Given the description of an element on the screen output the (x, y) to click on. 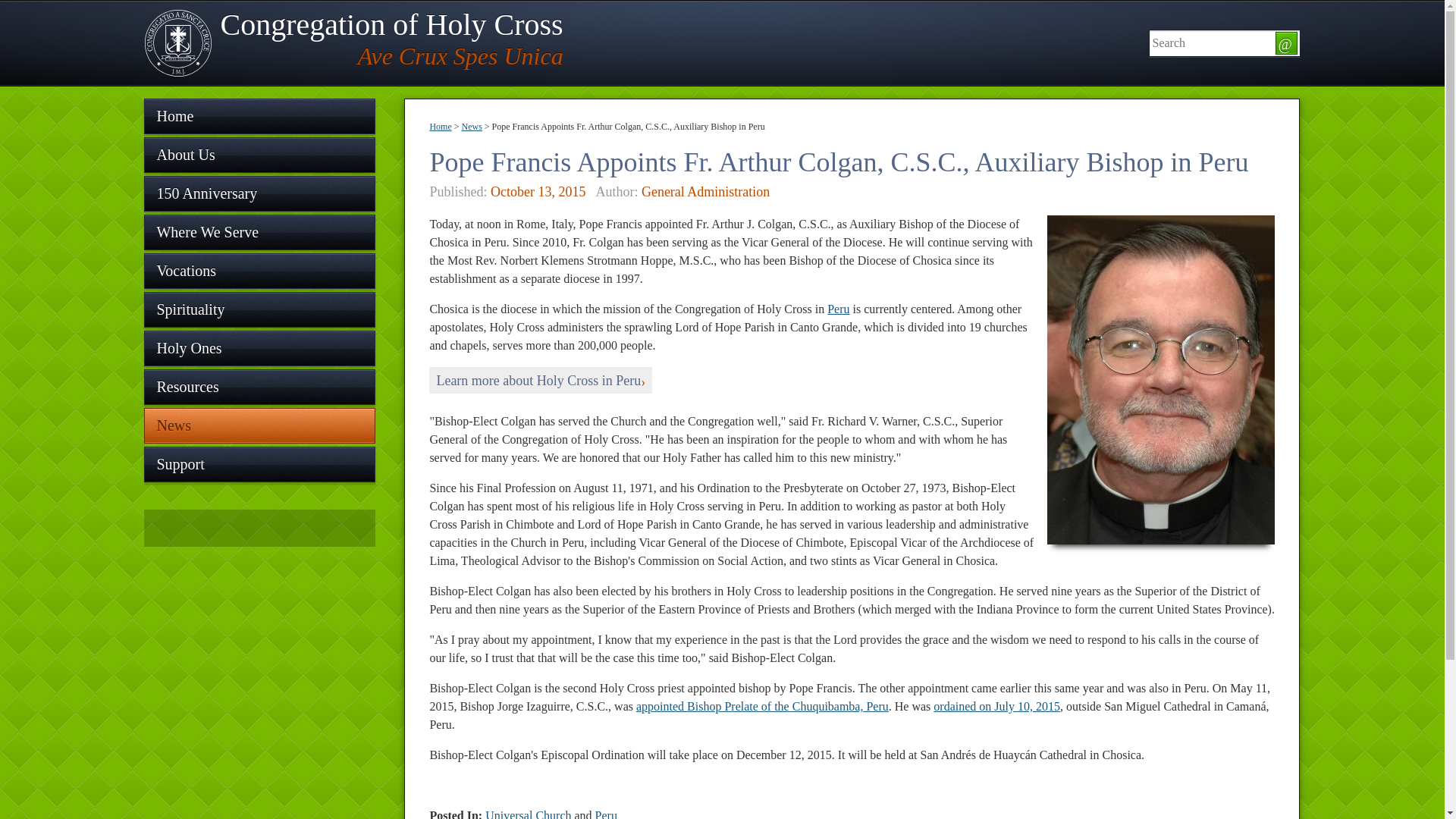
LinkedIn (260, 527)
Peru (837, 308)
Home (440, 126)
Instagram (353, 42)
Spirituality (230, 527)
Learn more about Holy Cross in Peru (259, 309)
Vocations (540, 379)
Universal Church (259, 271)
150 Anniversary (527, 814)
Support (259, 193)
Home (259, 464)
Facebook (259, 116)
YouTube (169, 527)
Peru (200, 527)
